Given the description of an element on the screen output the (x, y) to click on. 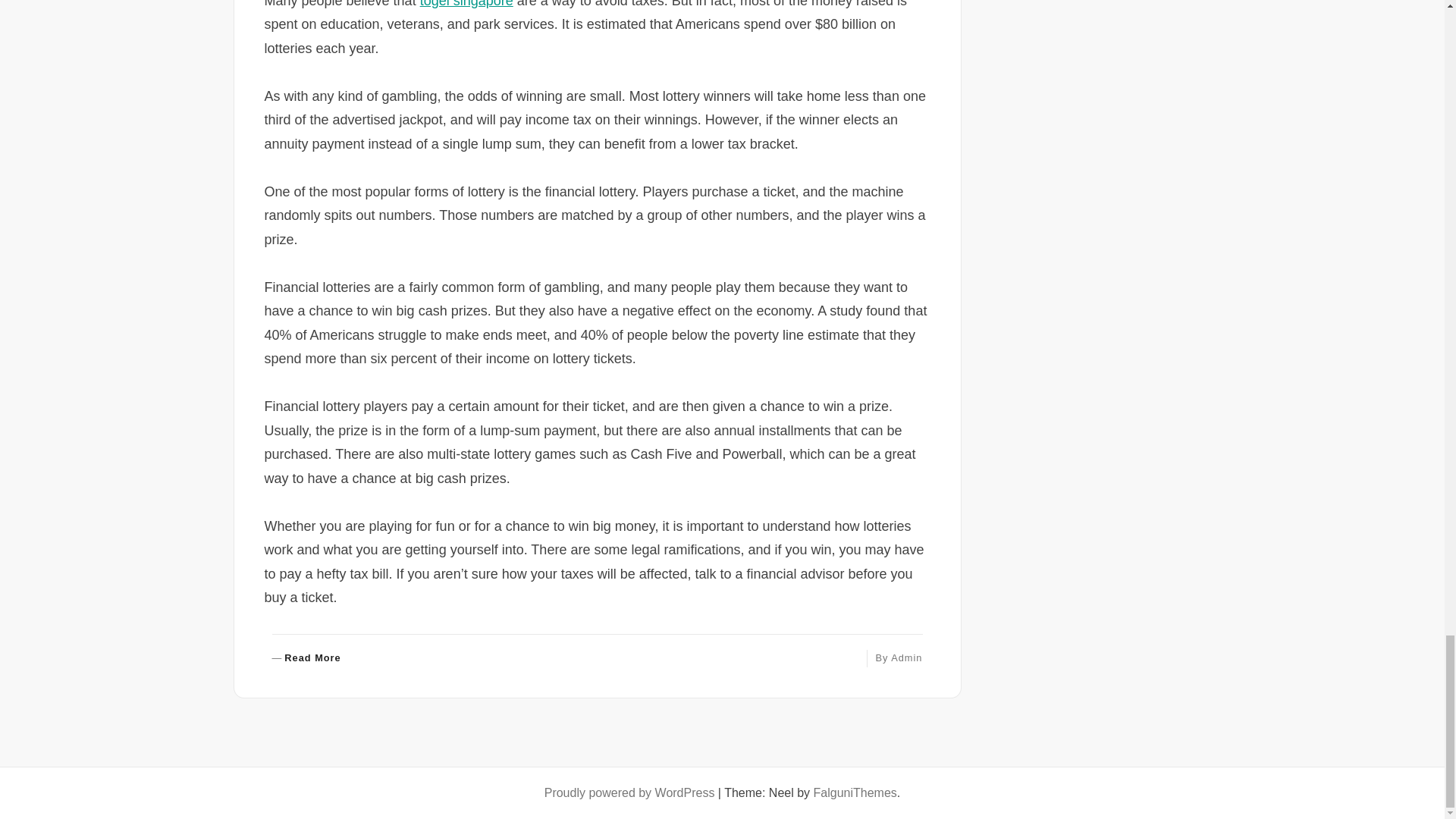
togel singapore (305, 658)
Admin (466, 4)
